Given the description of an element on the screen output the (x, y) to click on. 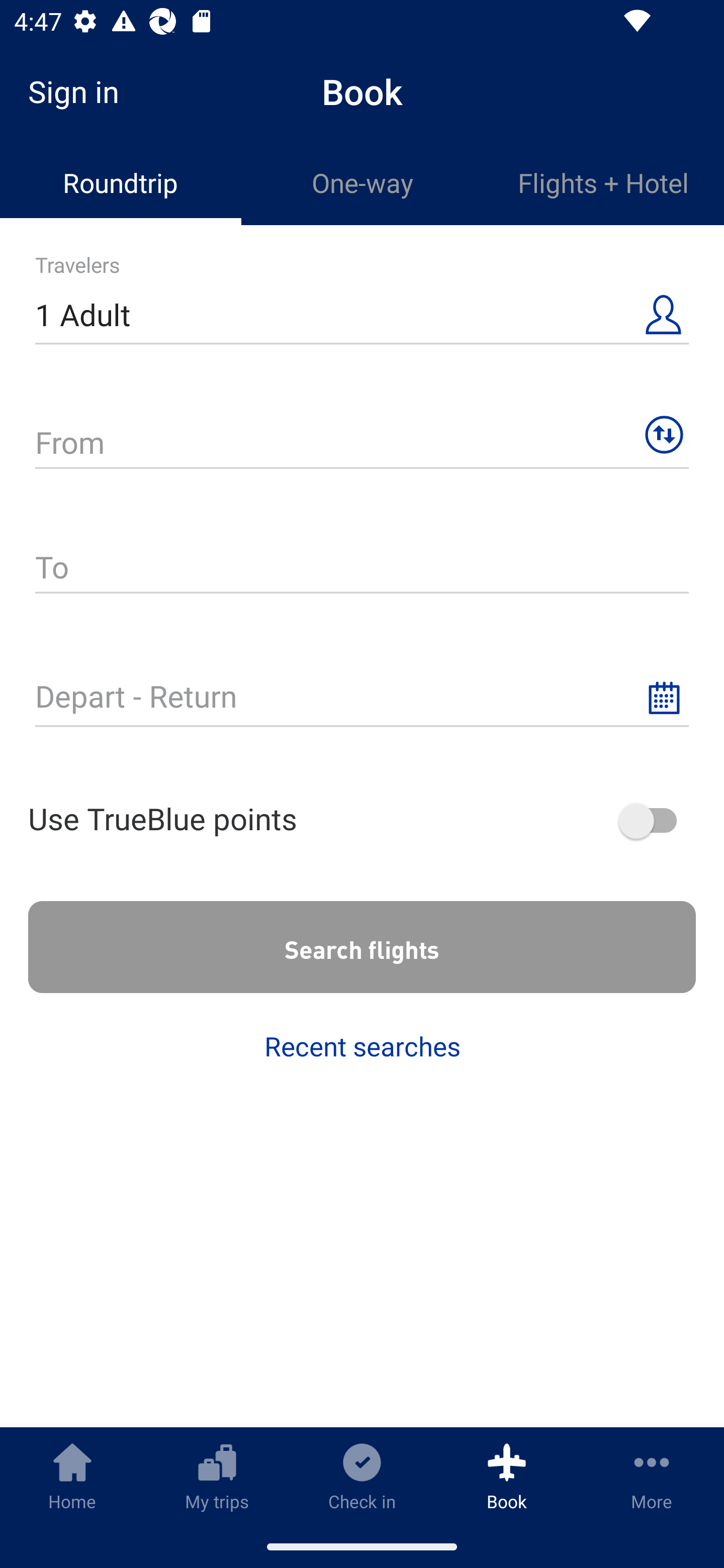
Sign in (80, 91)
One-way (361, 183)
Flights + Hotel (603, 183)
Travelers 1 Adult (361, 306)
From (361, 433)
Swap origin and destination (663, 434)
To (361, 559)
Depart and return (361, 687)
Search flights (361, 946)
Recent searches (361, 1046)
Home (72, 1475)
My trips (216, 1475)
Check in (361, 1475)
More (651, 1475)
